Given the description of an element on the screen output the (x, y) to click on. 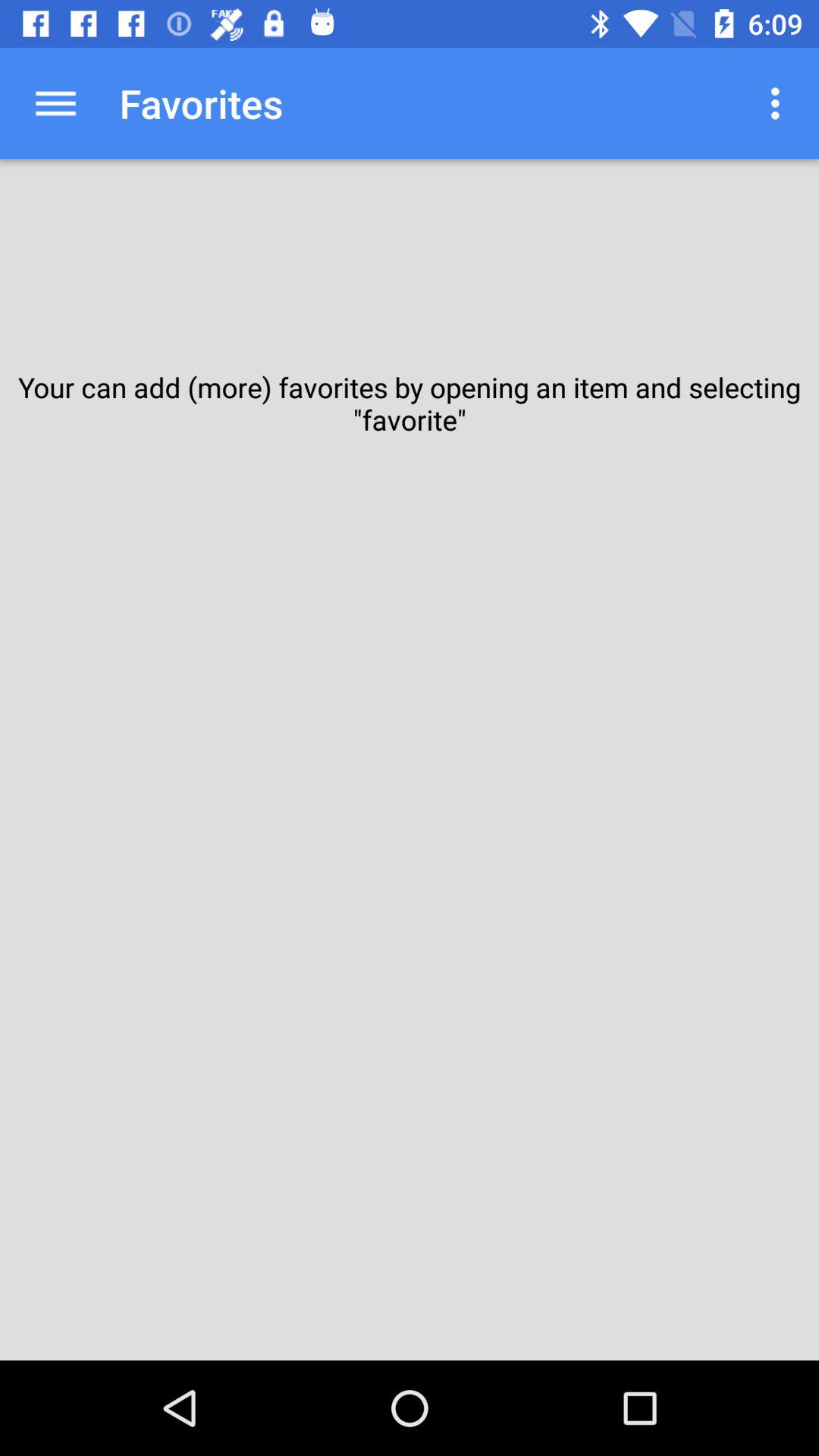
turn off the app above the your can add icon (779, 103)
